Given the description of an element on the screen output the (x, y) to click on. 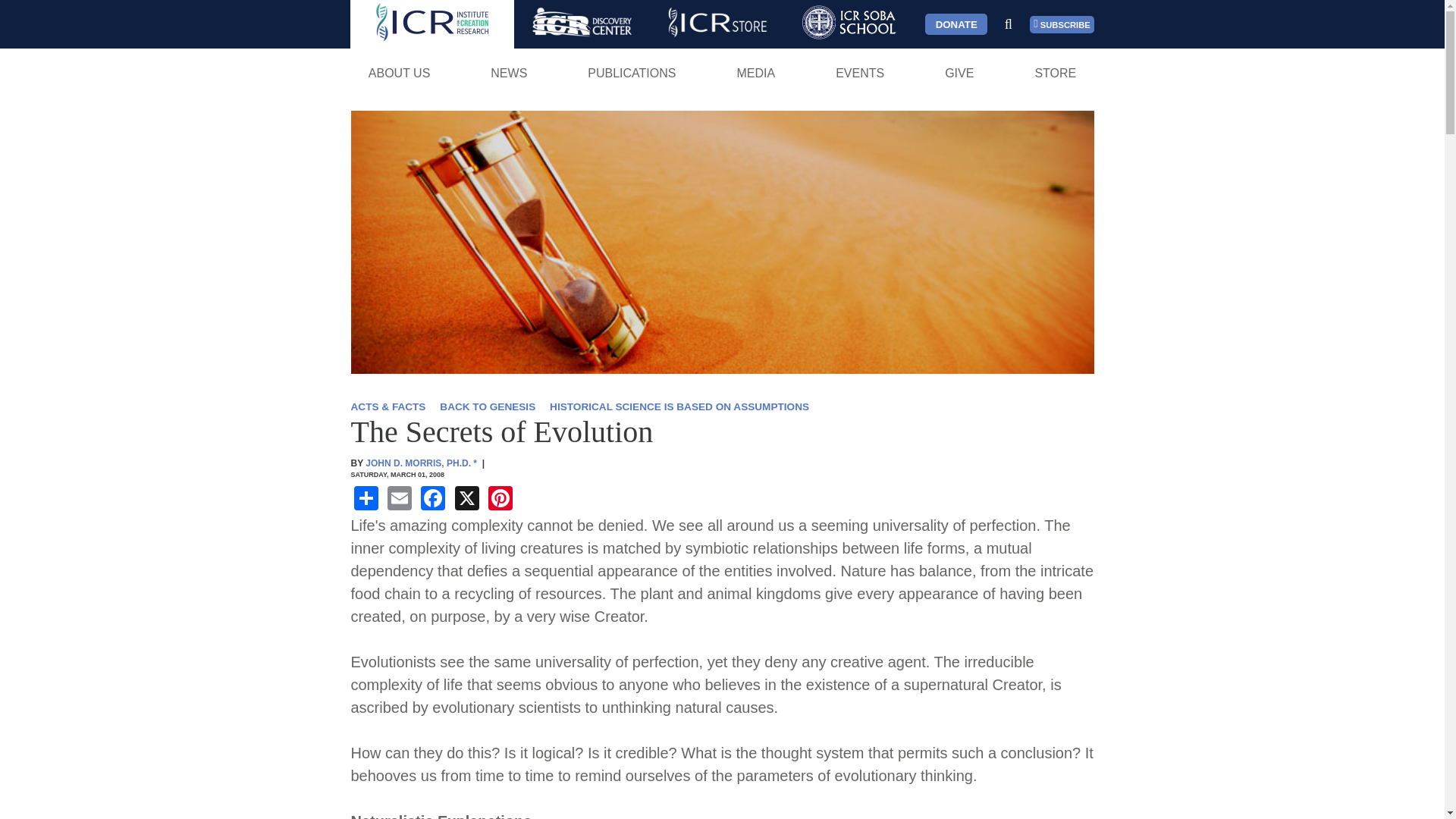
ABOUT US (399, 73)
NEWS (508, 73)
DONATE (955, 24)
SUBSCRIBE (1061, 24)
PUBLICATIONS (631, 73)
